Given the description of an element on the screen output the (x, y) to click on. 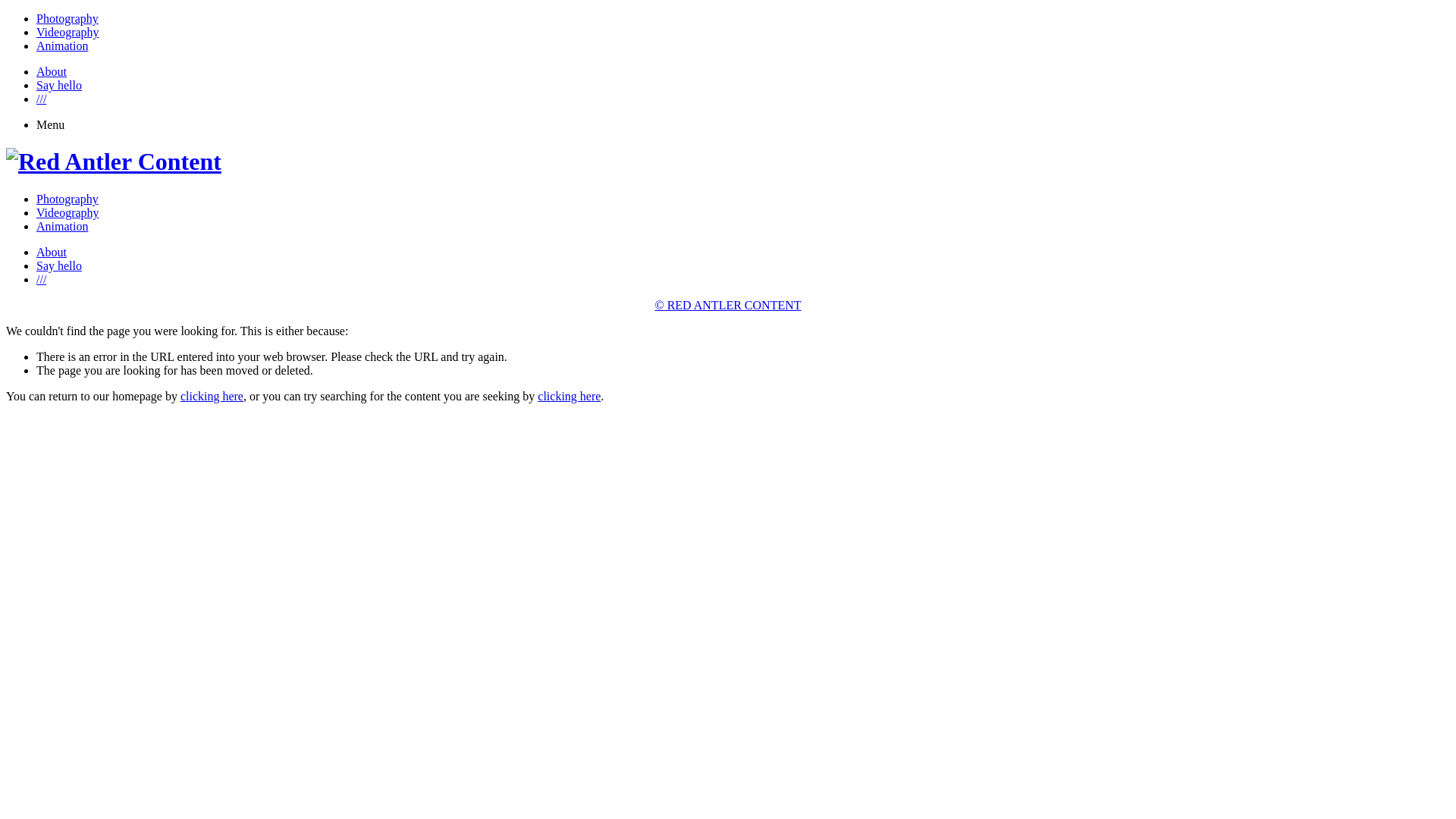
Say hello Element type: text (58, 265)
/// Element type: text (41, 98)
Animation Element type: text (61, 225)
Menu Element type: text (50, 124)
/// Element type: text (41, 279)
Videography Element type: text (67, 31)
Animation Element type: text (61, 45)
Photography Element type: text (67, 198)
Say hello Element type: text (58, 84)
clicking here Element type: text (211, 395)
Photography Element type: text (67, 18)
clicking here Element type: text (568, 395)
Videography Element type: text (67, 212)
About Element type: text (51, 251)
About Element type: text (51, 71)
